Given the description of an element on the screen output the (x, y) to click on. 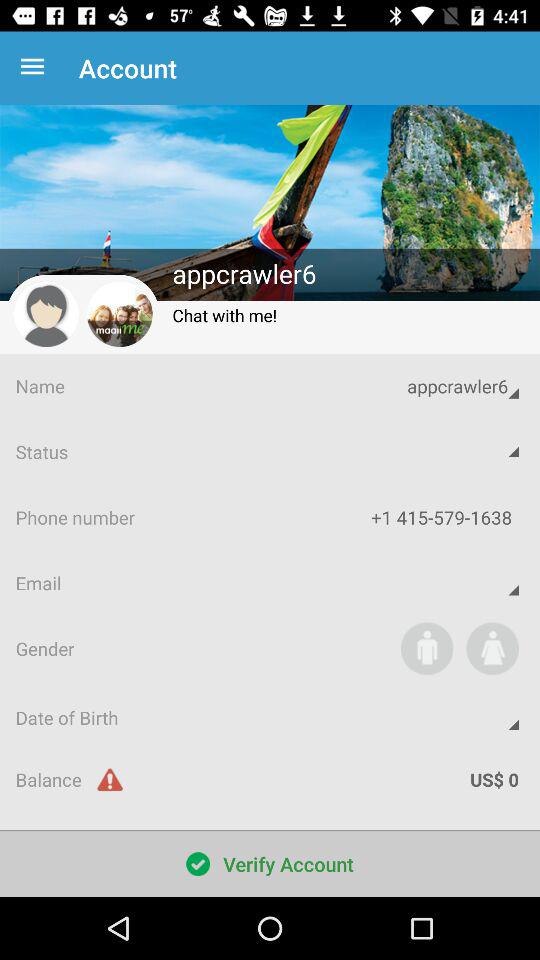
tap the app below the email (426, 648)
